Given the description of an element on the screen output the (x, y) to click on. 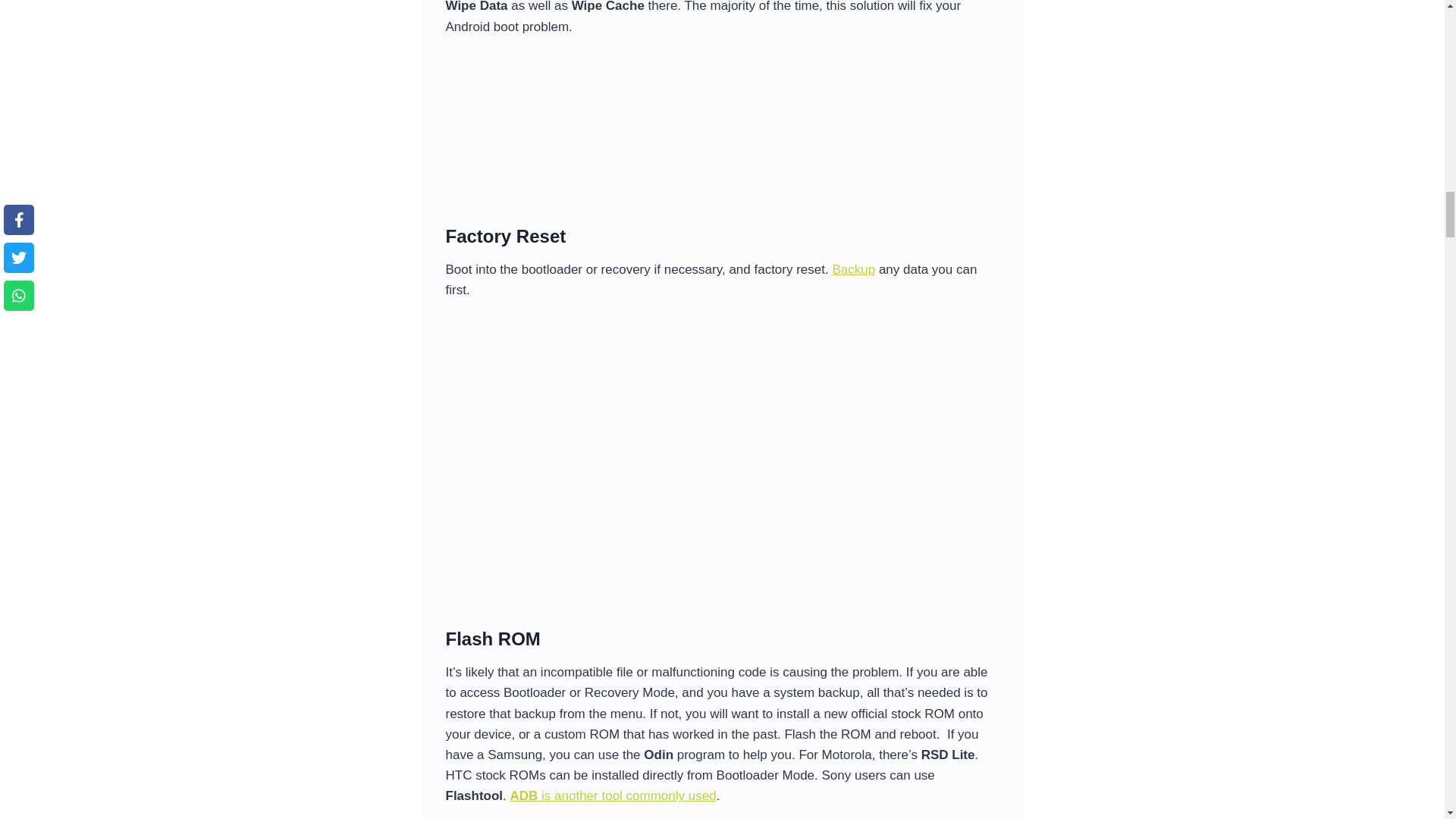
Backup (853, 269)
is another tool commonly used (628, 795)
ADB (526, 795)
Backup (853, 269)
